Given the description of an element on the screen output the (x, y) to click on. 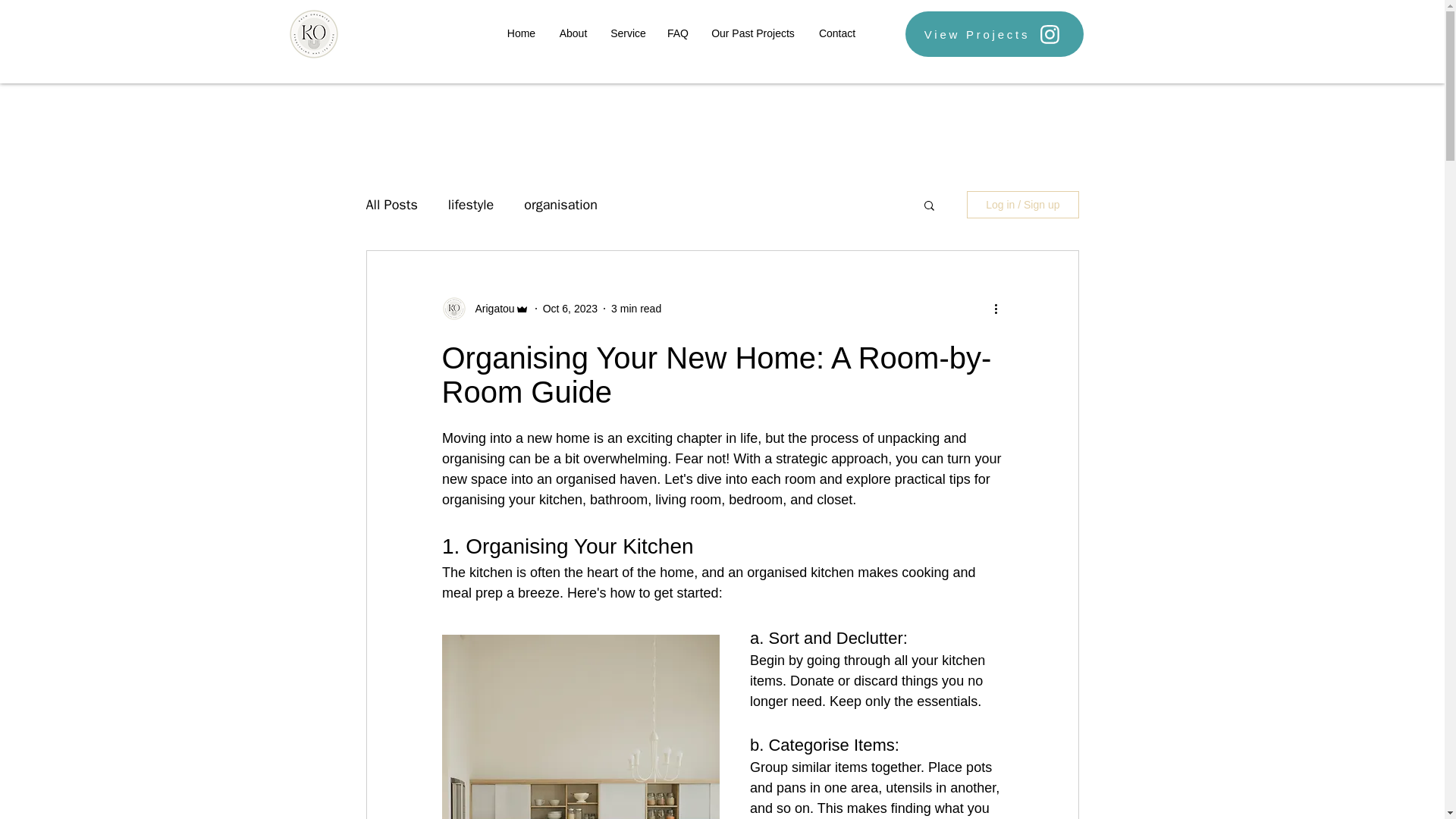
View Projects (994, 33)
All Posts (390, 204)
Service (627, 33)
FAQ (677, 33)
Contact (836, 33)
Arigatou (489, 308)
About (573, 33)
Our Past Projects (753, 33)
lifestyle (470, 204)
3 min read (636, 307)
